Given the description of an element on the screen output the (x, y) to click on. 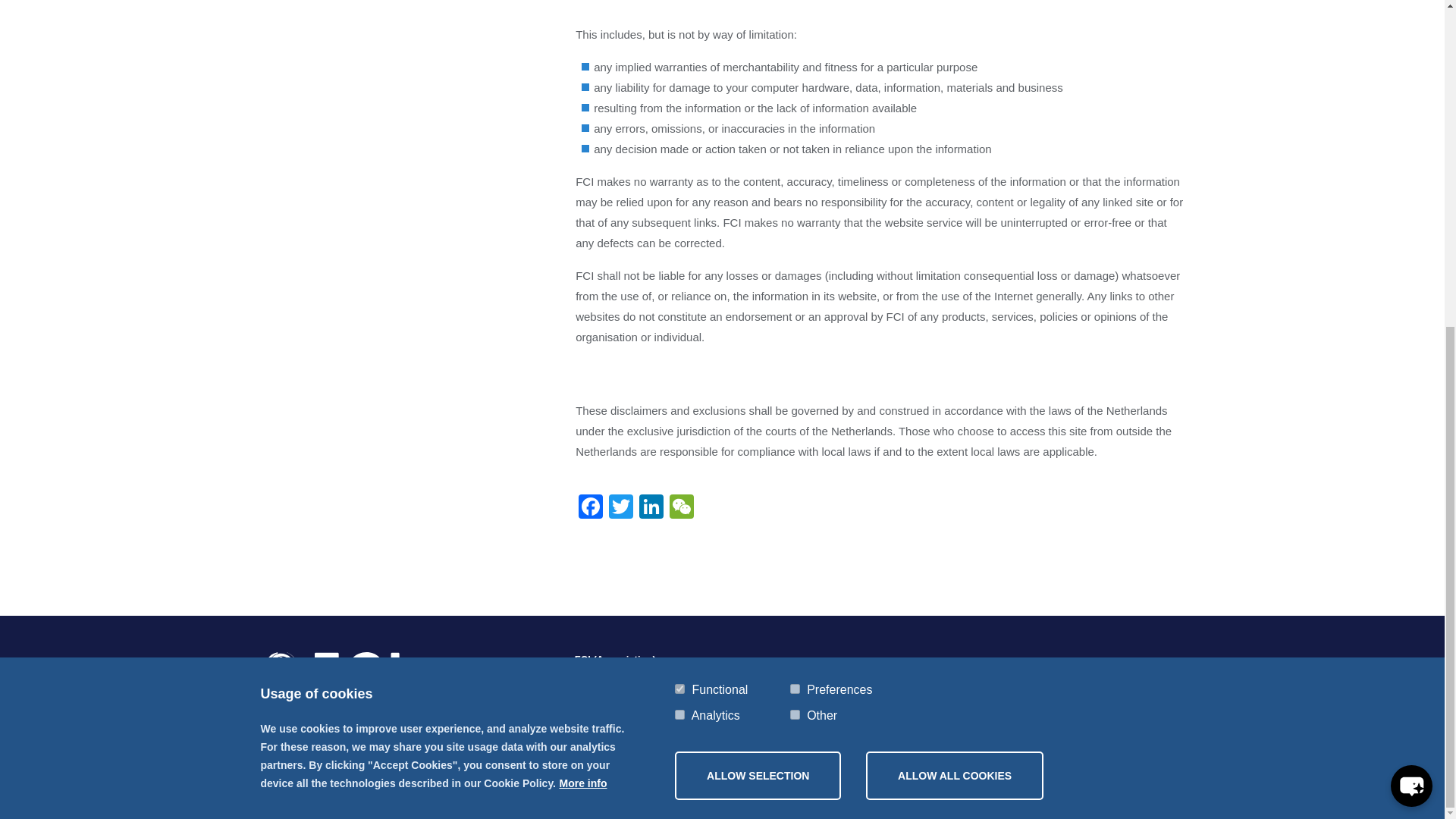
preferences (794, 150)
functional (679, 150)
other (794, 175)
analytics (679, 175)
